Given the description of an element on the screen output the (x, y) to click on. 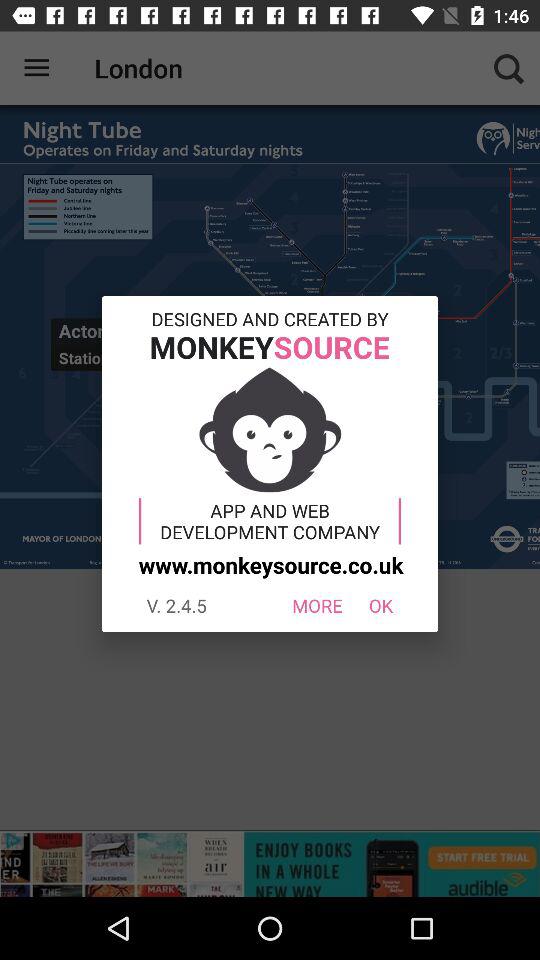
choose the ok (380, 605)
